Given the description of an element on the screen output the (x, y) to click on. 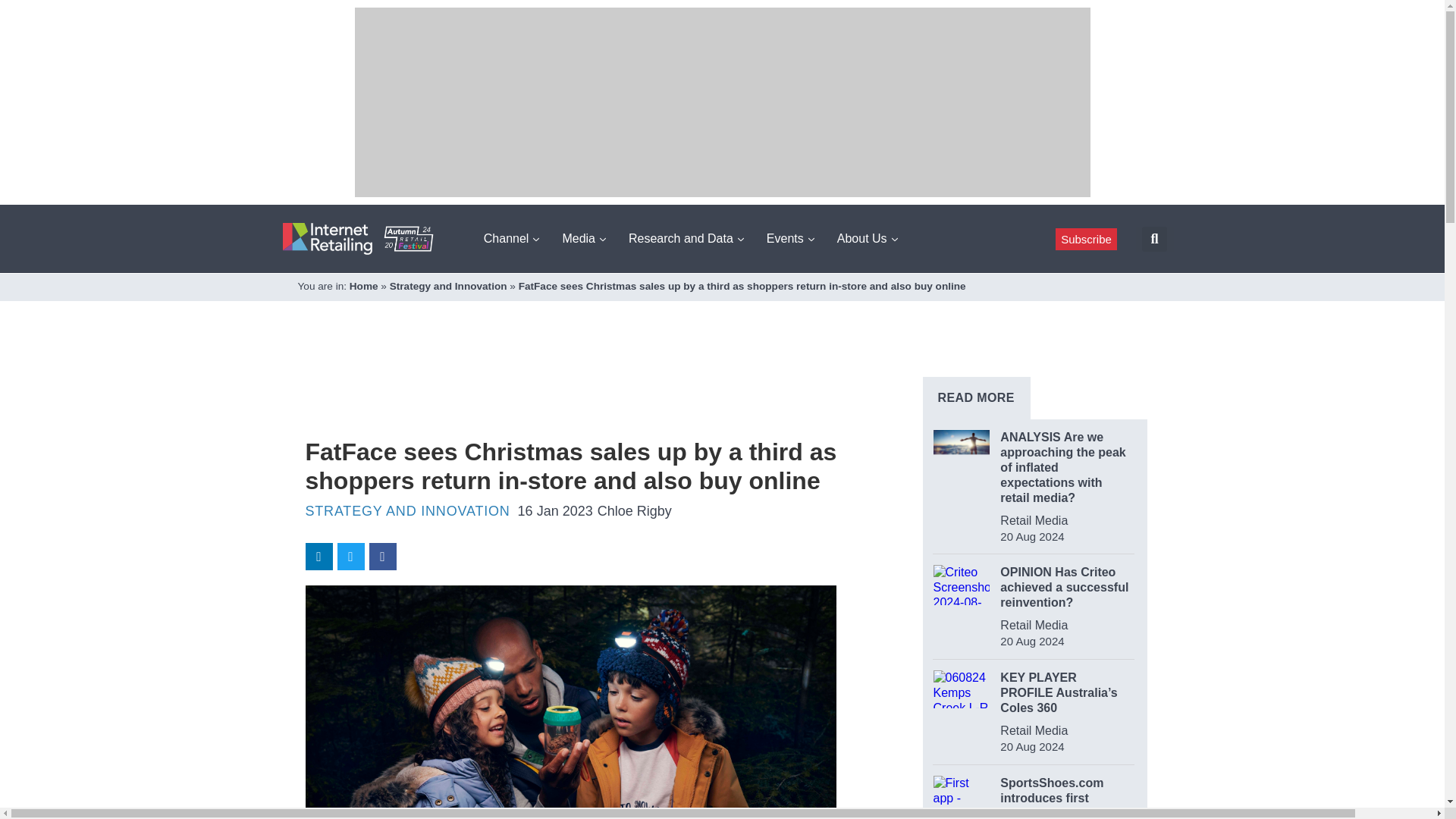
Research and Data (686, 238)
Channel (511, 238)
Media (583, 238)
